Given the description of an element on the screen output the (x, y) to click on. 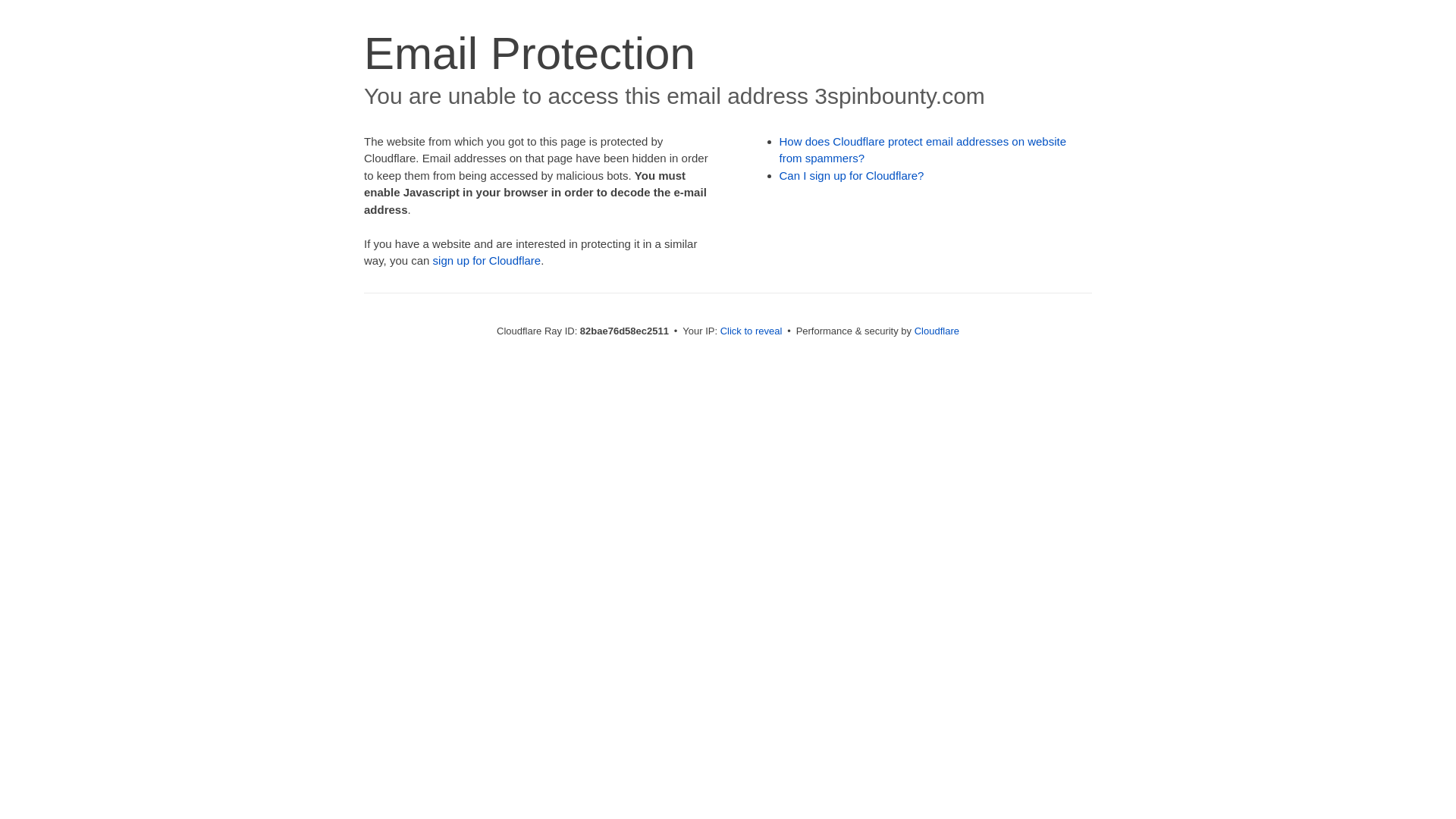
Can I sign up for Cloudflare? Element type: text (851, 175)
Cloudflare Element type: text (936, 330)
Click to reveal Element type: text (751, 330)
sign up for Cloudflare Element type: text (487, 260)
